Given the description of an element on the screen output the (x, y) to click on. 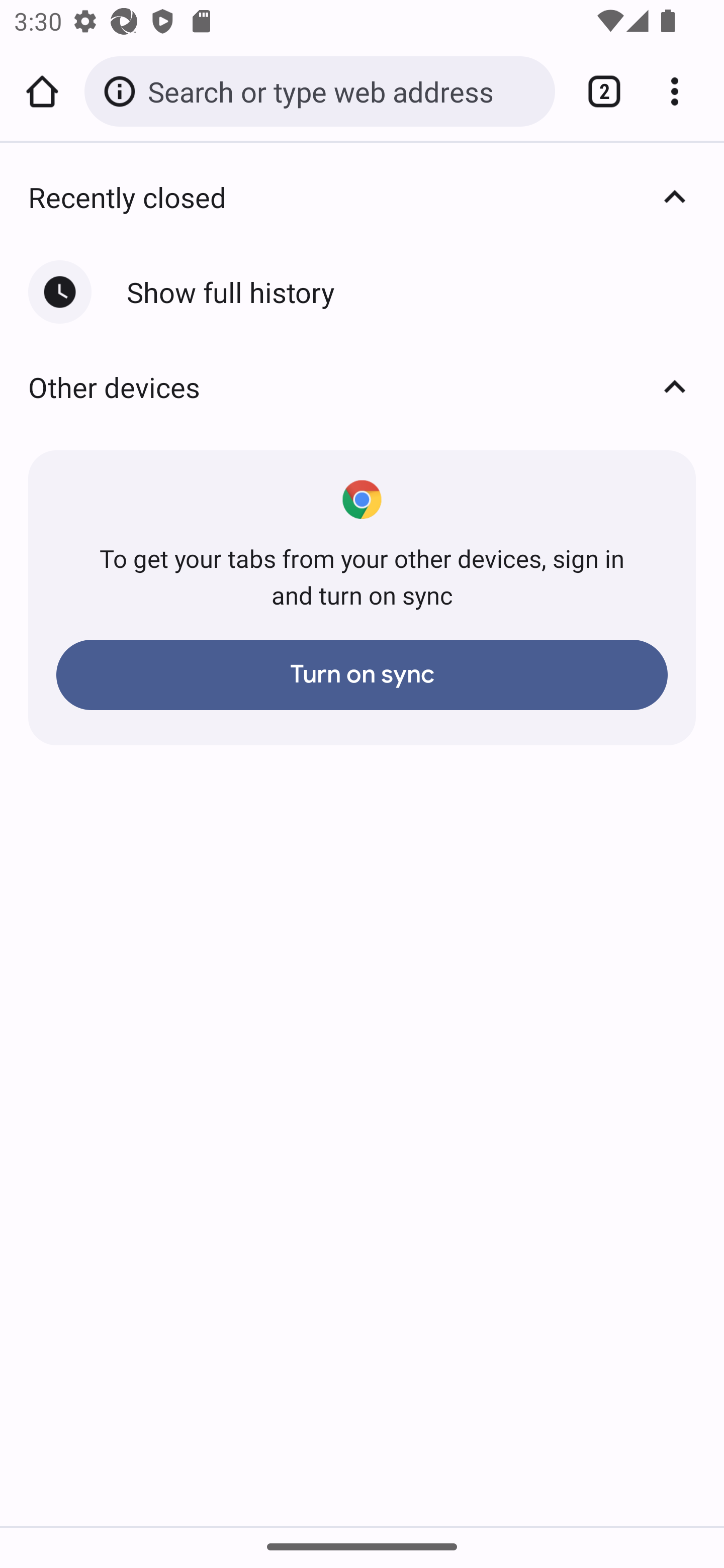
Home (42, 91)
Your connection to this site is not secure (122, 91)
Switch or close tabs (597, 91)
More options (681, 91)
Search or type web address (343, 90)
Recently closed Tap to collapse (362, 197)
Show full history (362, 291)
Other devices Tap to collapse (362, 386)
Turn on sync (361, 674)
